Given the description of an element on the screen output the (x, y) to click on. 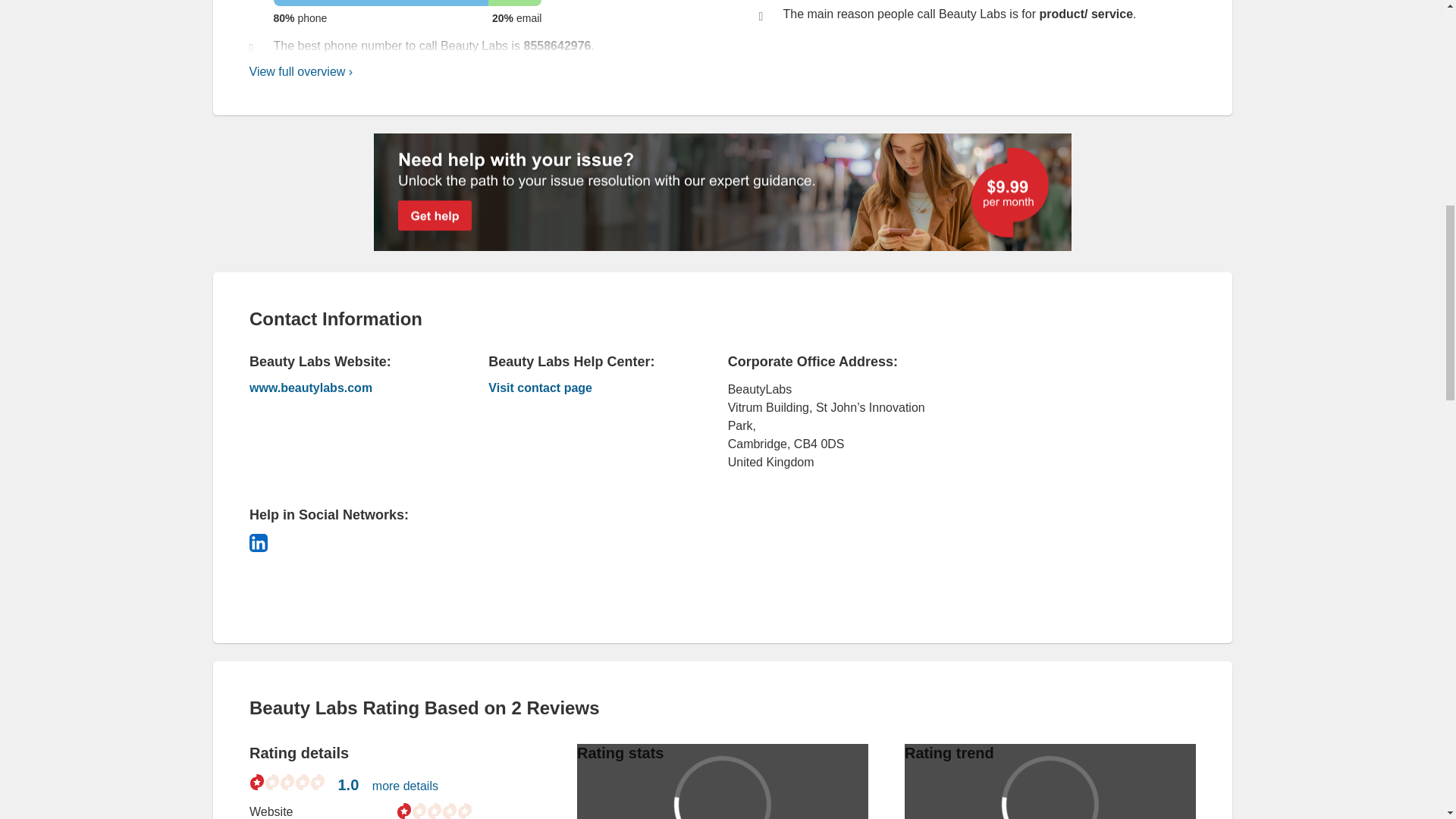
Beauty Labs (345, 387)
Linkedin link (257, 542)
Linkedin (257, 542)
Beauty Labs (584, 389)
Visit contact page (584, 389)
www.beautylabs.com (345, 387)
